Given the description of an element on the screen output the (x, y) to click on. 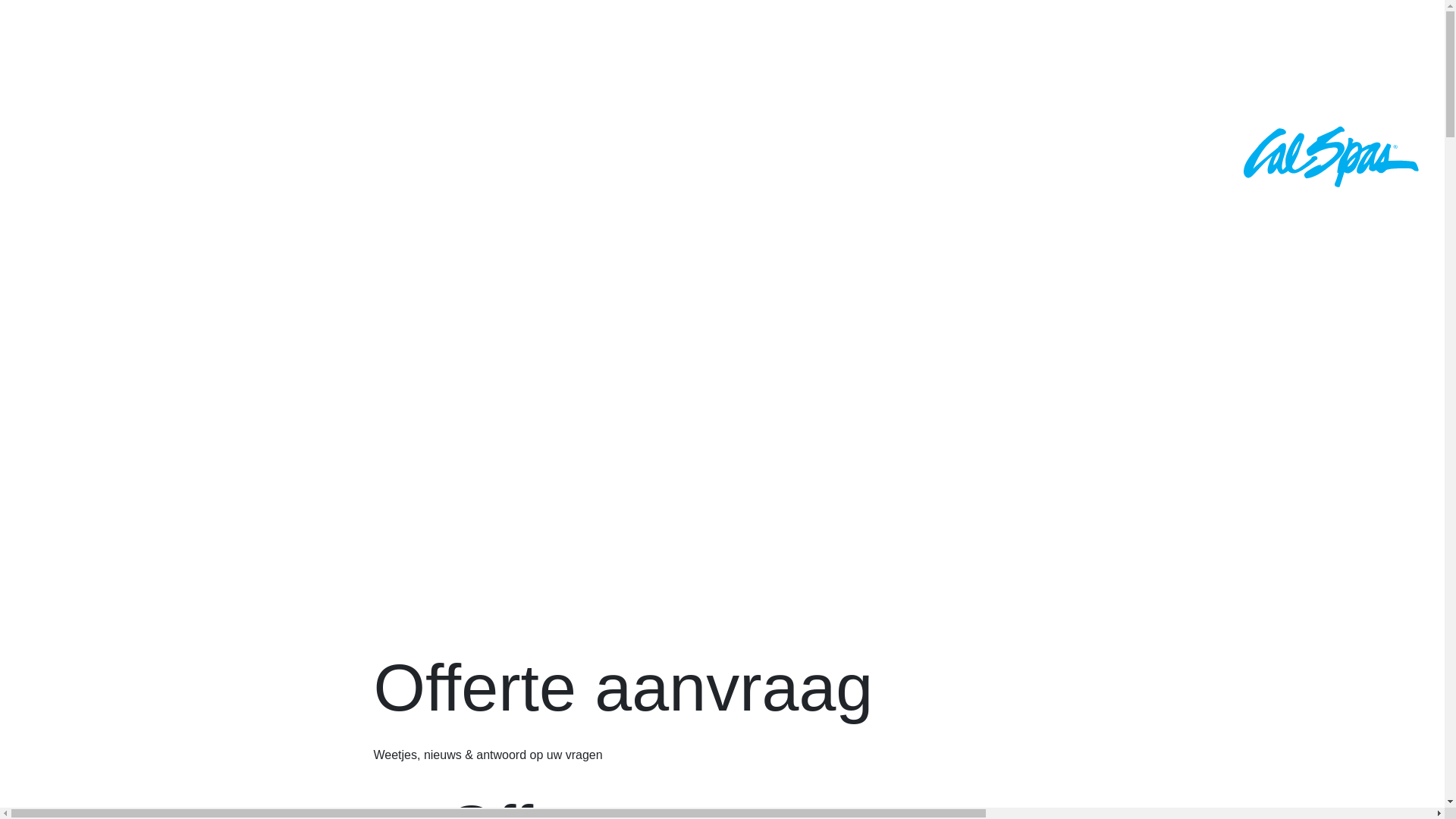
Dienst na verkoop Element type: text (183, 220)
Dealer worden Element type: text (150, 283)
Downloads Element type: text (117, 157)
Blog Element type: text (54, 94)
Installatie Element type: text (101, 31)
